Given the description of an element on the screen output the (x, y) to click on. 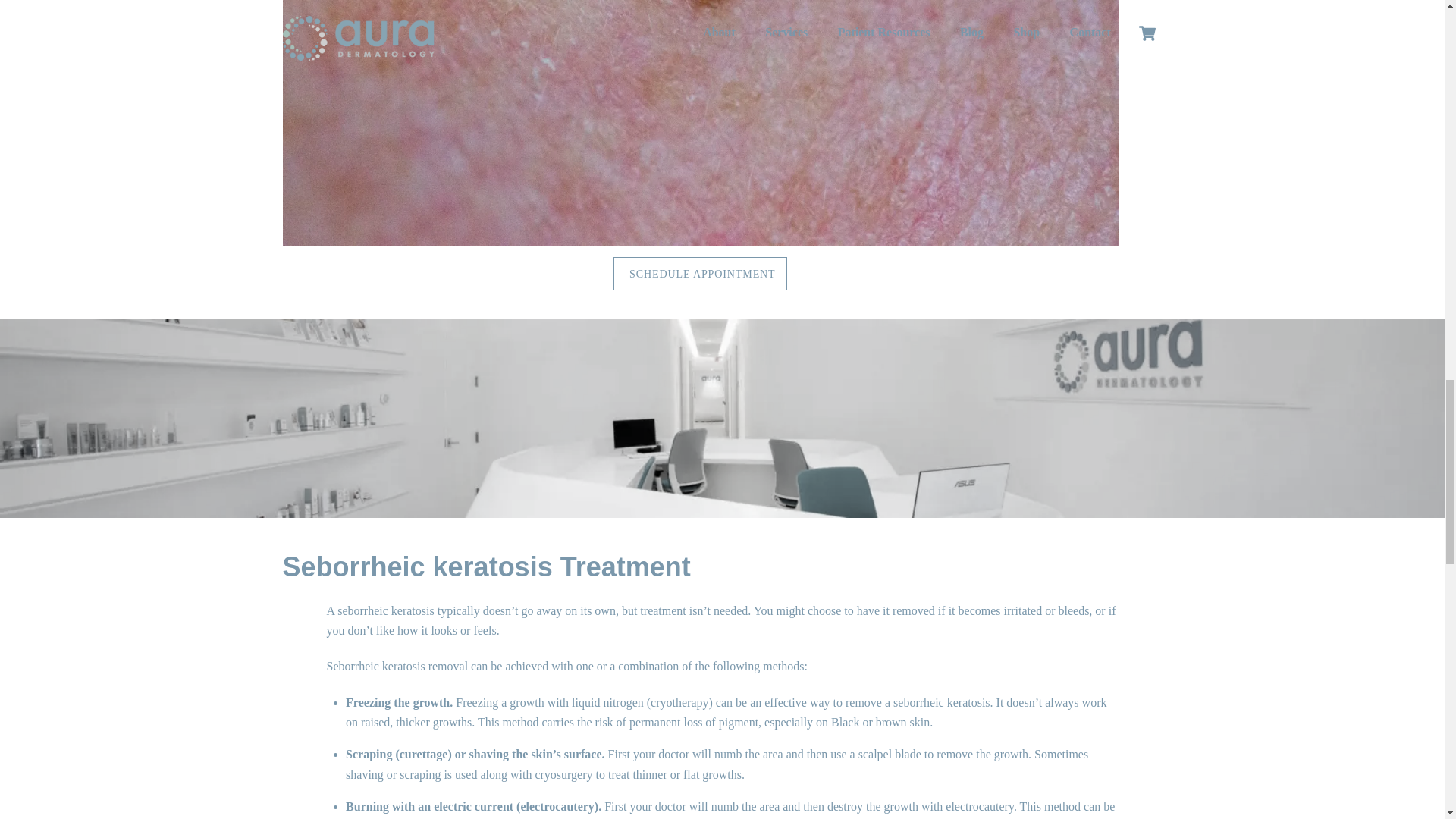
SCHEDULE APPOINTMENT (699, 273)
